Given the description of an element on the screen output the (x, y) to click on. 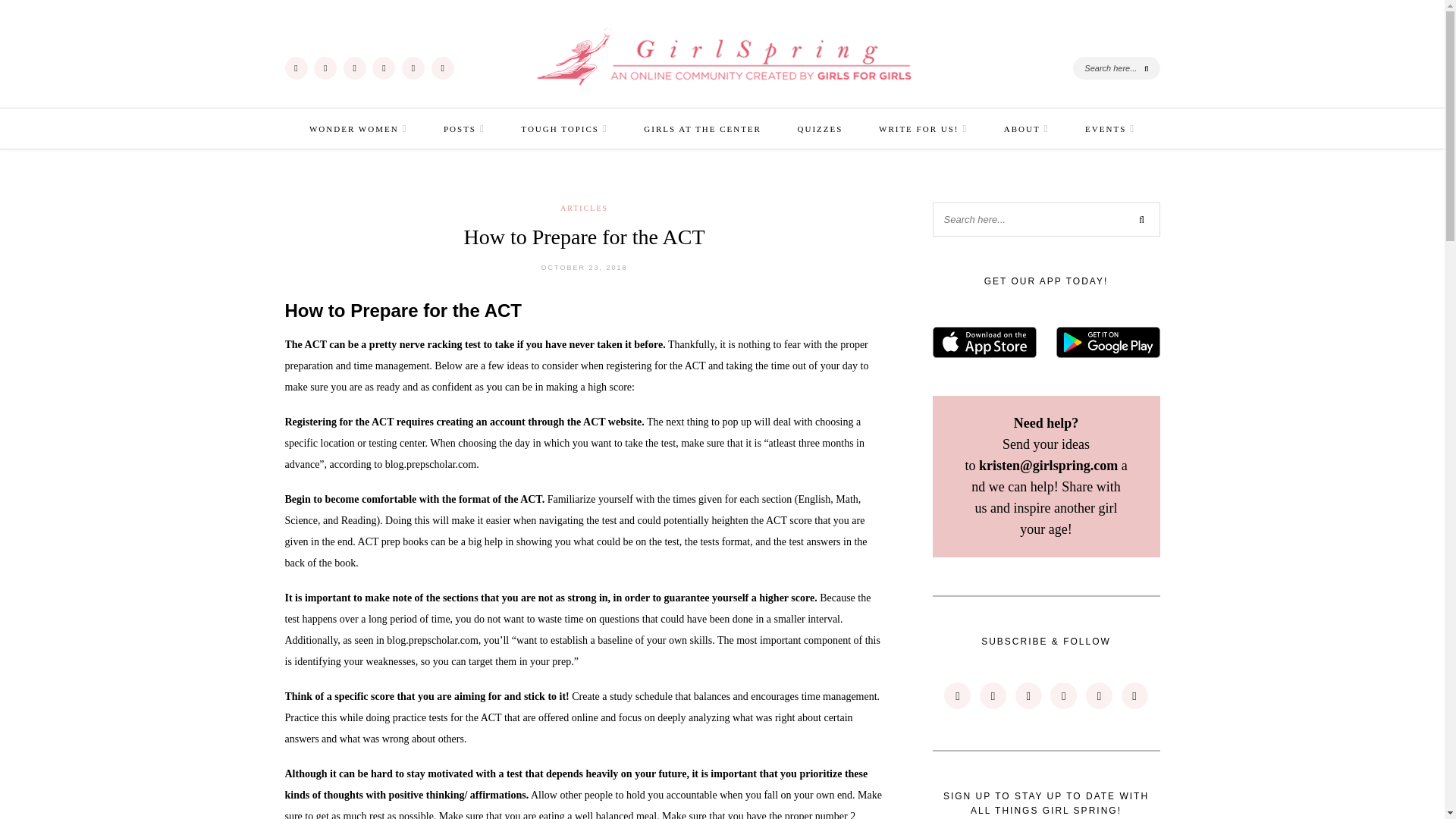
WONDER WOMEN (357, 128)
POSTS (464, 128)
TOUGH TOPICS (564, 128)
